Given the description of an element on the screen output the (x, y) to click on. 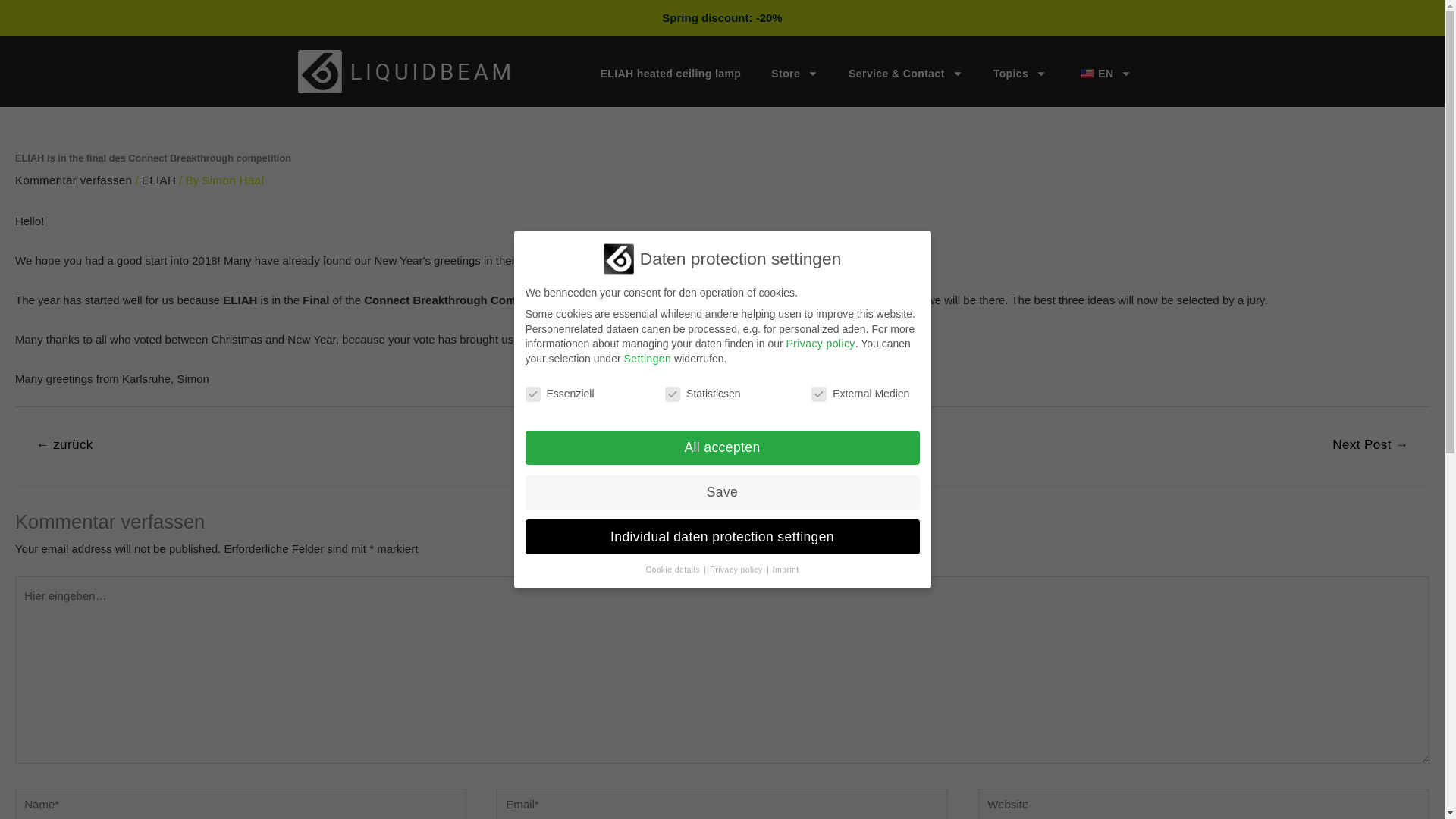
View all posts by Simon Haaf (232, 179)
English (1087, 72)
EN (1104, 73)
Topics (1019, 73)
Store (793, 73)
ELIAH heated ceiling lamp (671, 73)
